Given the description of an element on the screen output the (x, y) to click on. 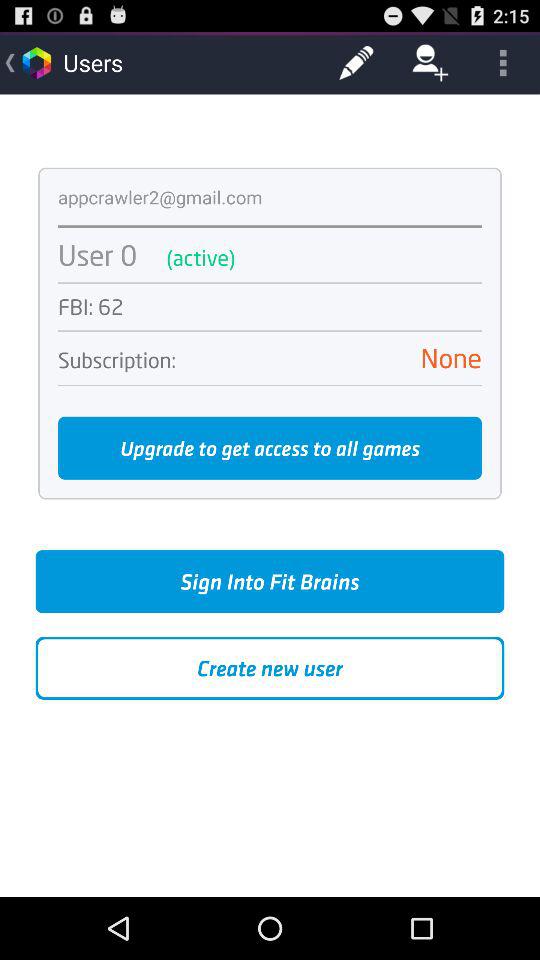
select create new user button (269, 667)
